Given the description of an element on the screen output the (x, y) to click on. 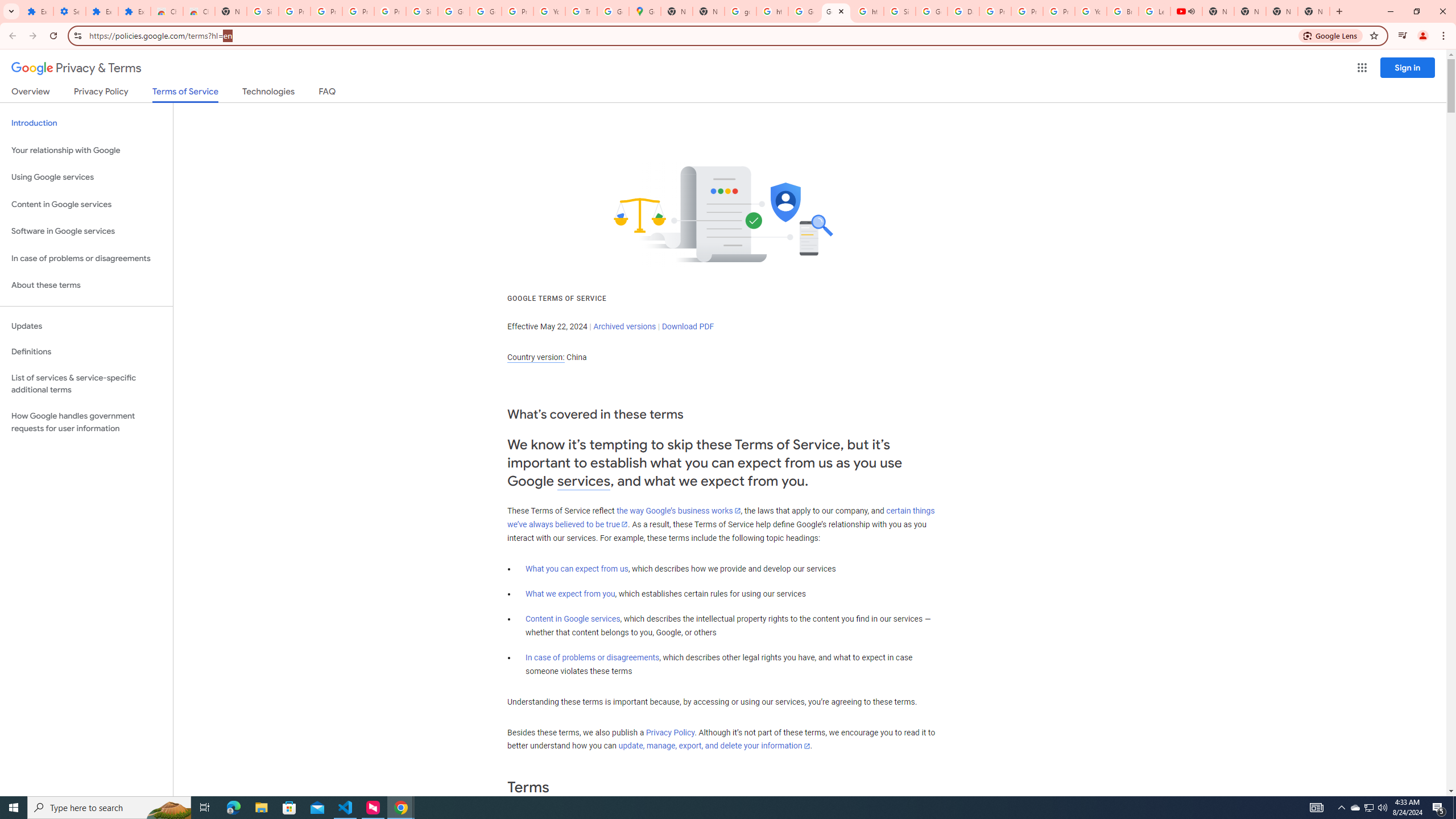
services (583, 480)
Definitions (86, 352)
List of services & service-specific additional terms (86, 383)
Chrome Web Store (166, 11)
Download PDF (687, 326)
Extensions (101, 11)
Archived versions (624, 326)
In case of problems or disagreements (592, 657)
Sign in - Google Accounts (899, 11)
Search with Google Lens (1330, 35)
